Given the description of an element on the screen output the (x, y) to click on. 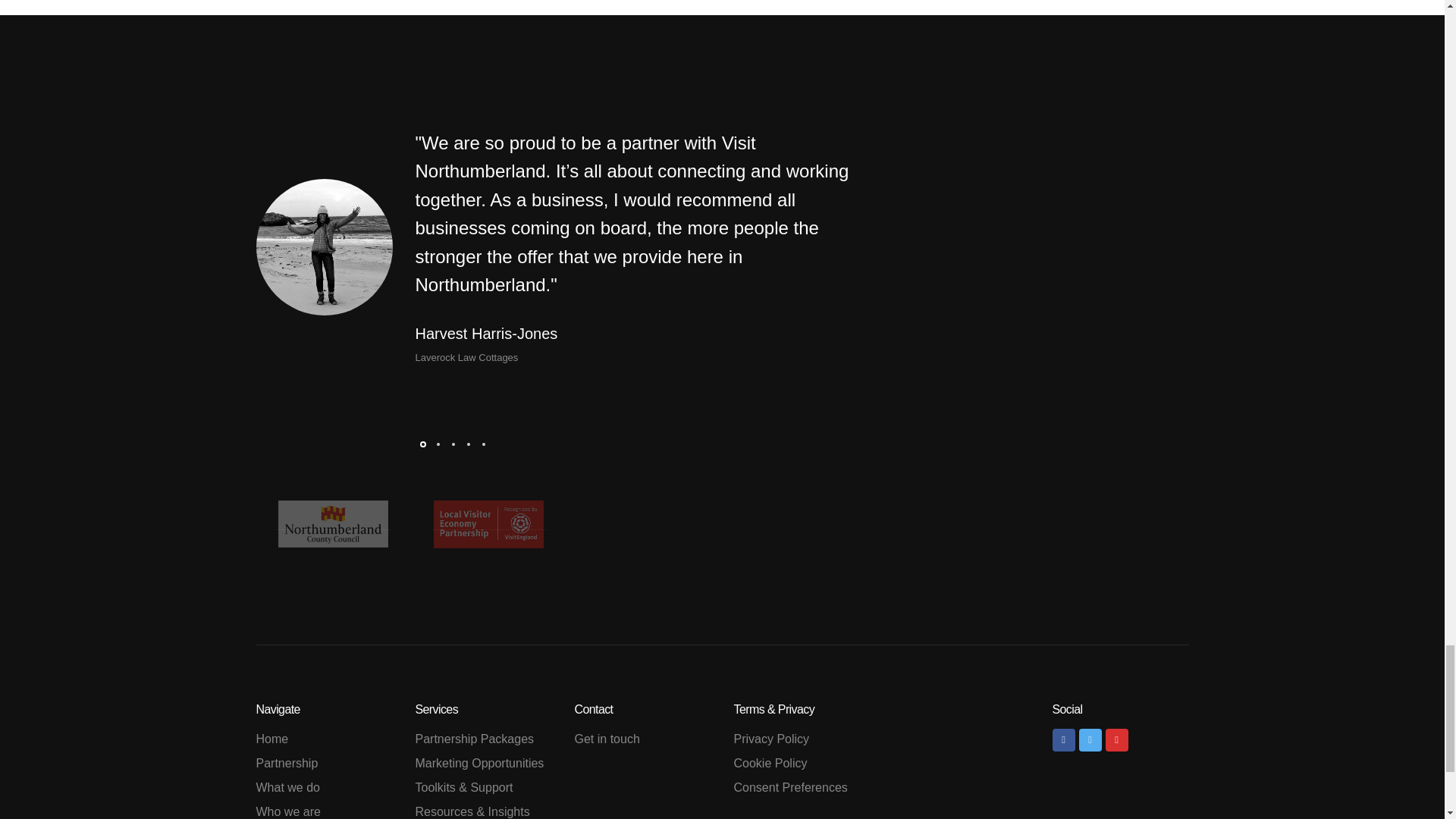
Northumberland County Counci (333, 522)
Linkedin (1116, 739)
Twitter (1089, 739)
Facebook (1063, 739)
